Given the description of an element on the screen output the (x, y) to click on. 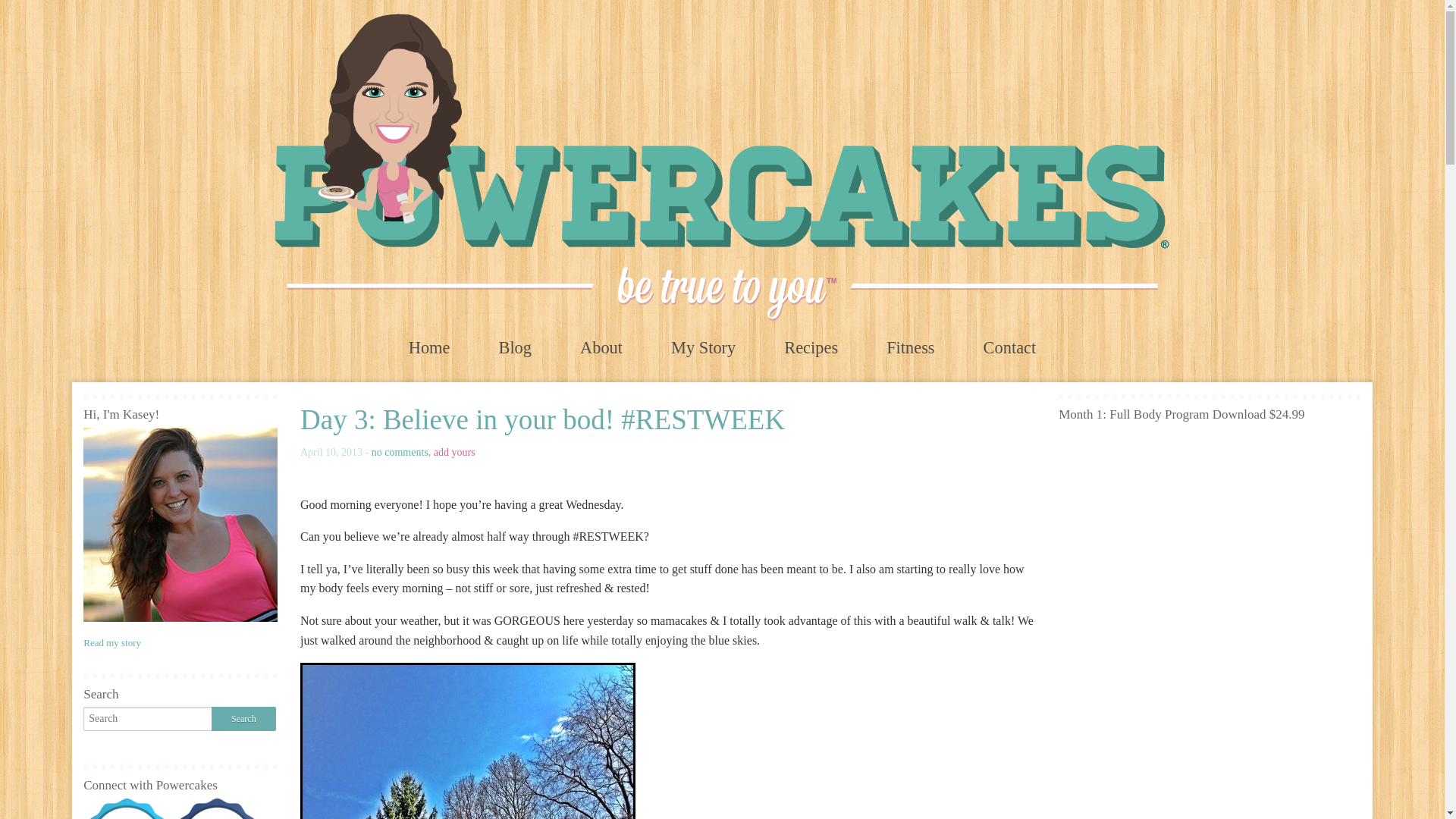
photo.JPG1 (466, 740)
Read my story (111, 642)
Search (243, 718)
About (601, 347)
About (601, 347)
Recipes (810, 347)
Contact (1009, 347)
Home (429, 347)
My Story (702, 347)
Search (243, 718)
